Given the description of an element on the screen output the (x, y) to click on. 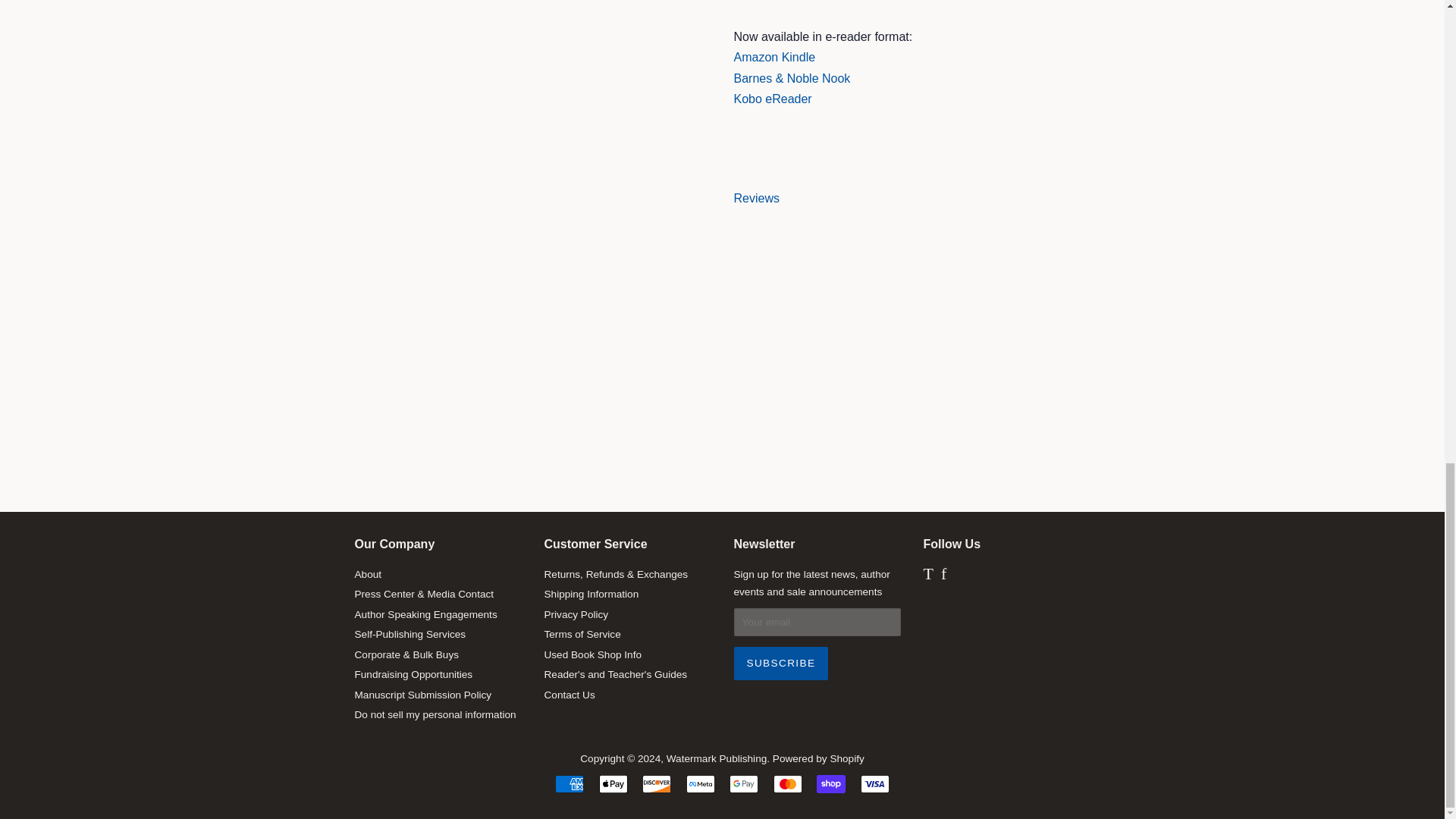
American Express (568, 783)
Google Pay (743, 783)
Mastercard (787, 783)
Visa (874, 783)
Subscribe (780, 663)
Discover (656, 783)
Apple Pay (612, 783)
Shop Pay (830, 783)
Meta Pay (699, 783)
